Given the description of an element on the screen output the (x, y) to click on. 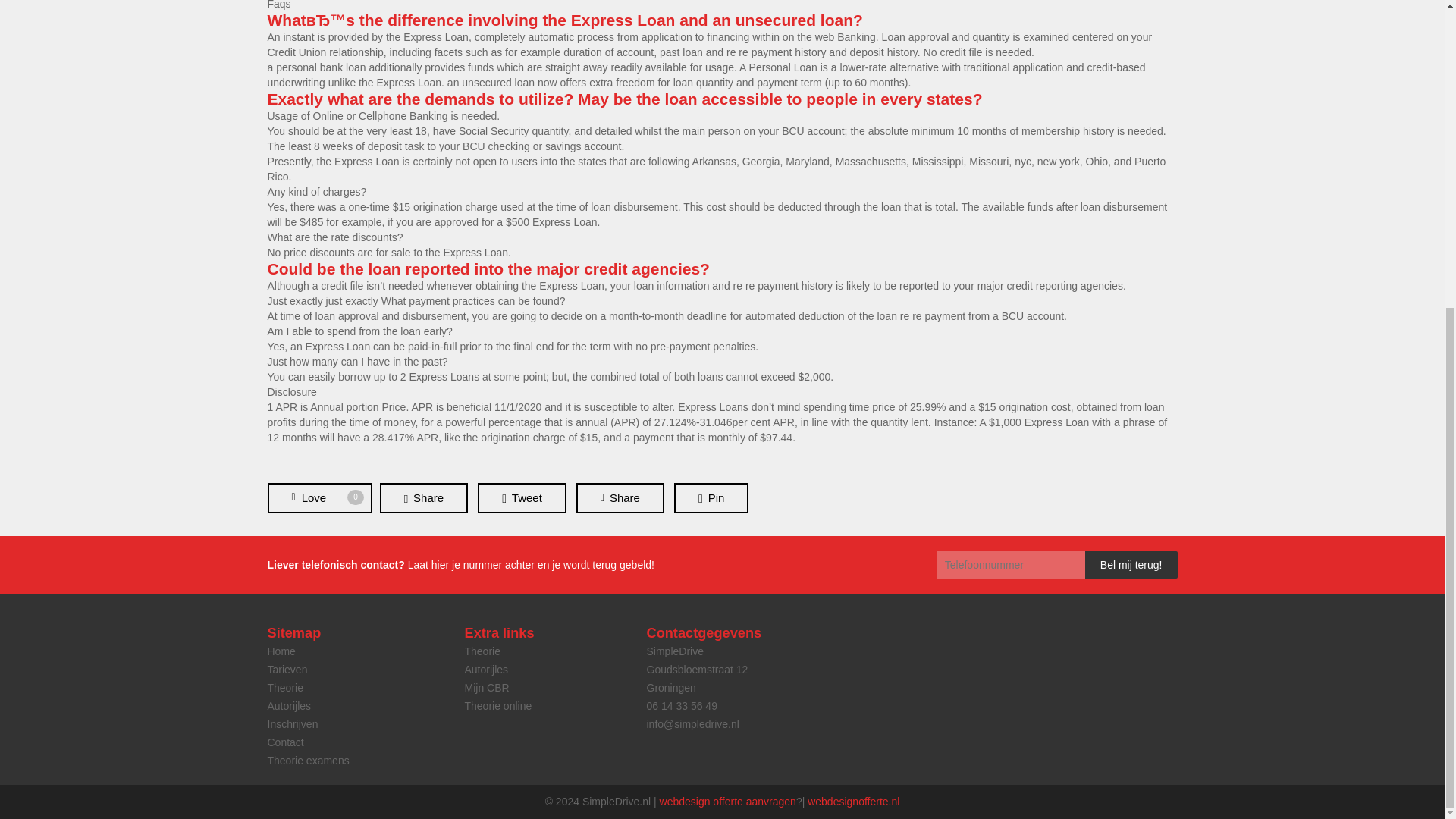
Tarieven (286, 669)
Tweet (521, 498)
Inschrijven (291, 724)
Share this (423, 498)
Bel mij terug! (1130, 564)
Autorijles (318, 498)
Autorijles (486, 669)
Love this (288, 705)
Contact (318, 498)
Pin this (284, 742)
webdesign offerte aanvragen (711, 498)
webdesignofferte.nl (727, 801)
Share (853, 801)
Mijn CBR (619, 498)
